Given the description of an element on the screen output the (x, y) to click on. 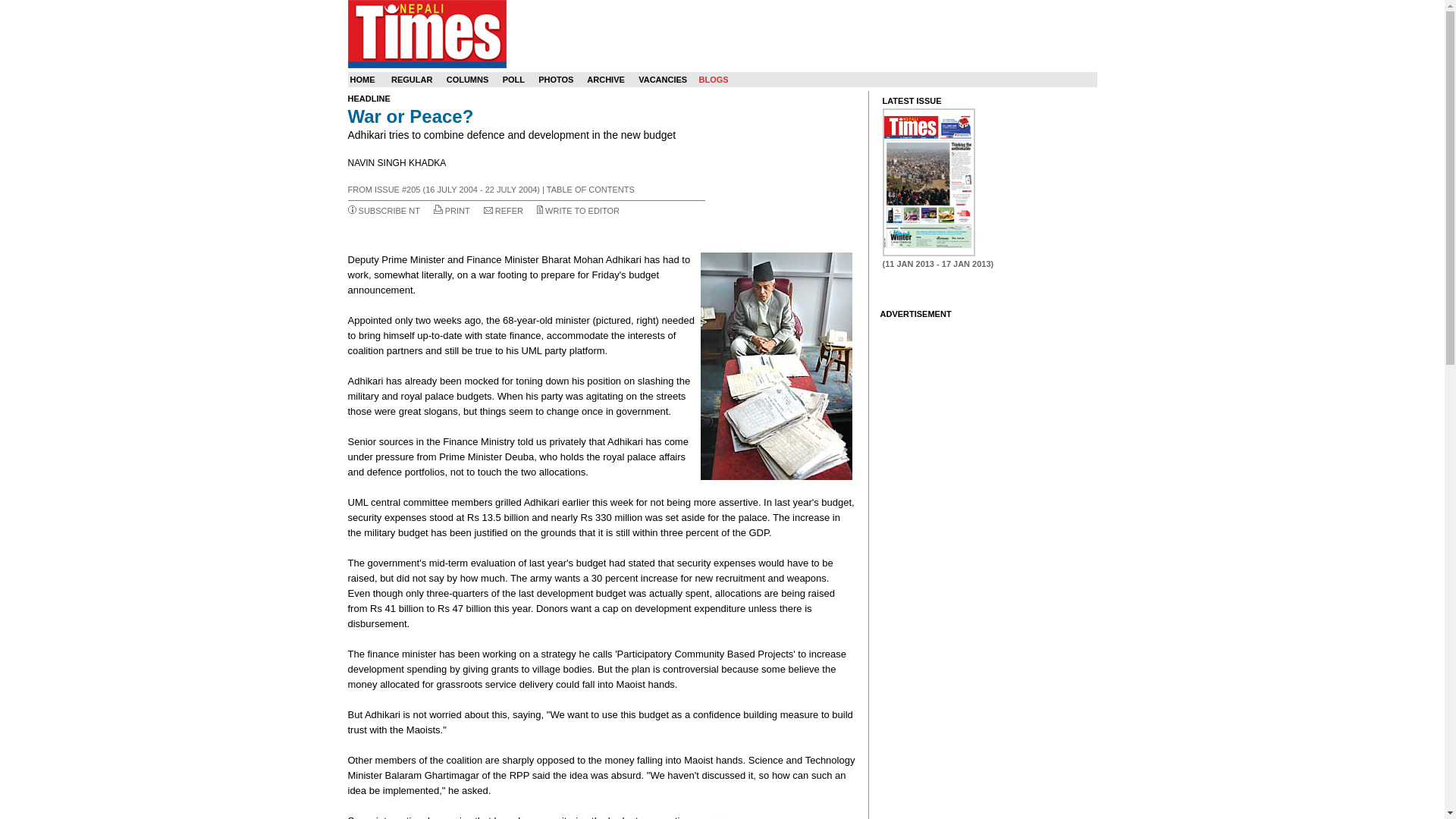
REGULAR (411, 79)
BLOGS (713, 79)
HOME (362, 79)
Nepali Times (426, 33)
ARCHIVE (605, 79)
SUBSCRIBE NT (389, 210)
TABLE OF CONTENTS (590, 189)
WRITE TO EDITOR (582, 210)
VACANCIES (663, 79)
PRINT (458, 210)
